Given the description of an element on the screen output the (x, y) to click on. 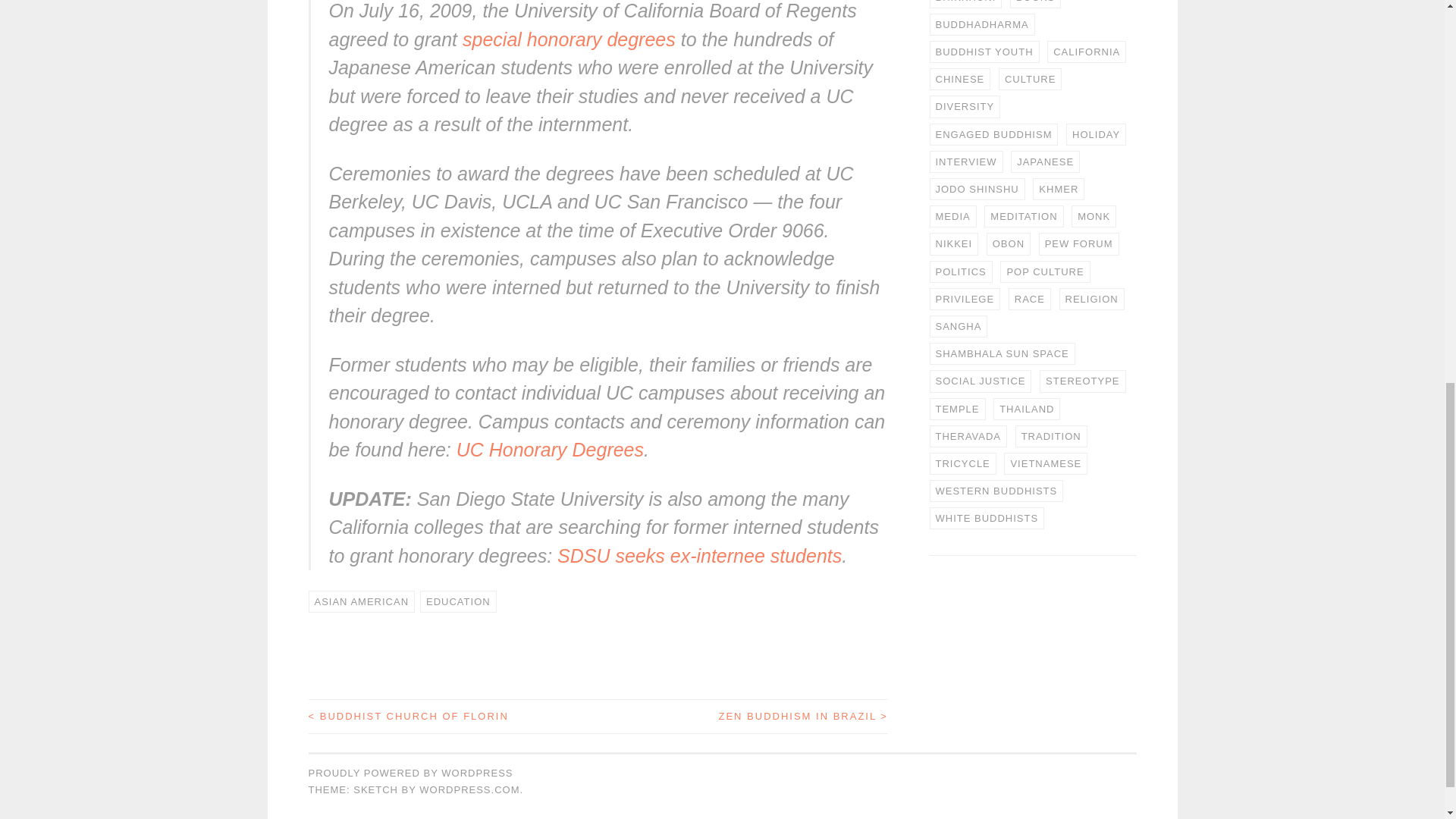
DIVERSITY (965, 106)
special honorary degrees (569, 38)
ASIAN AMERICAN (360, 601)
BHIKKHUNI (966, 4)
CHINESE (960, 78)
SDSU seeks ex-internee students (699, 555)
EDUCATION (458, 601)
BUDDHIST YOUTH (984, 51)
BOOKS (1035, 4)
CULTURE (1029, 78)
CALIFORNIA (1085, 51)
UC Honorary Degrees (550, 449)
BUDDHADHARMA (982, 24)
